Given the description of an element on the screen output the (x, y) to click on. 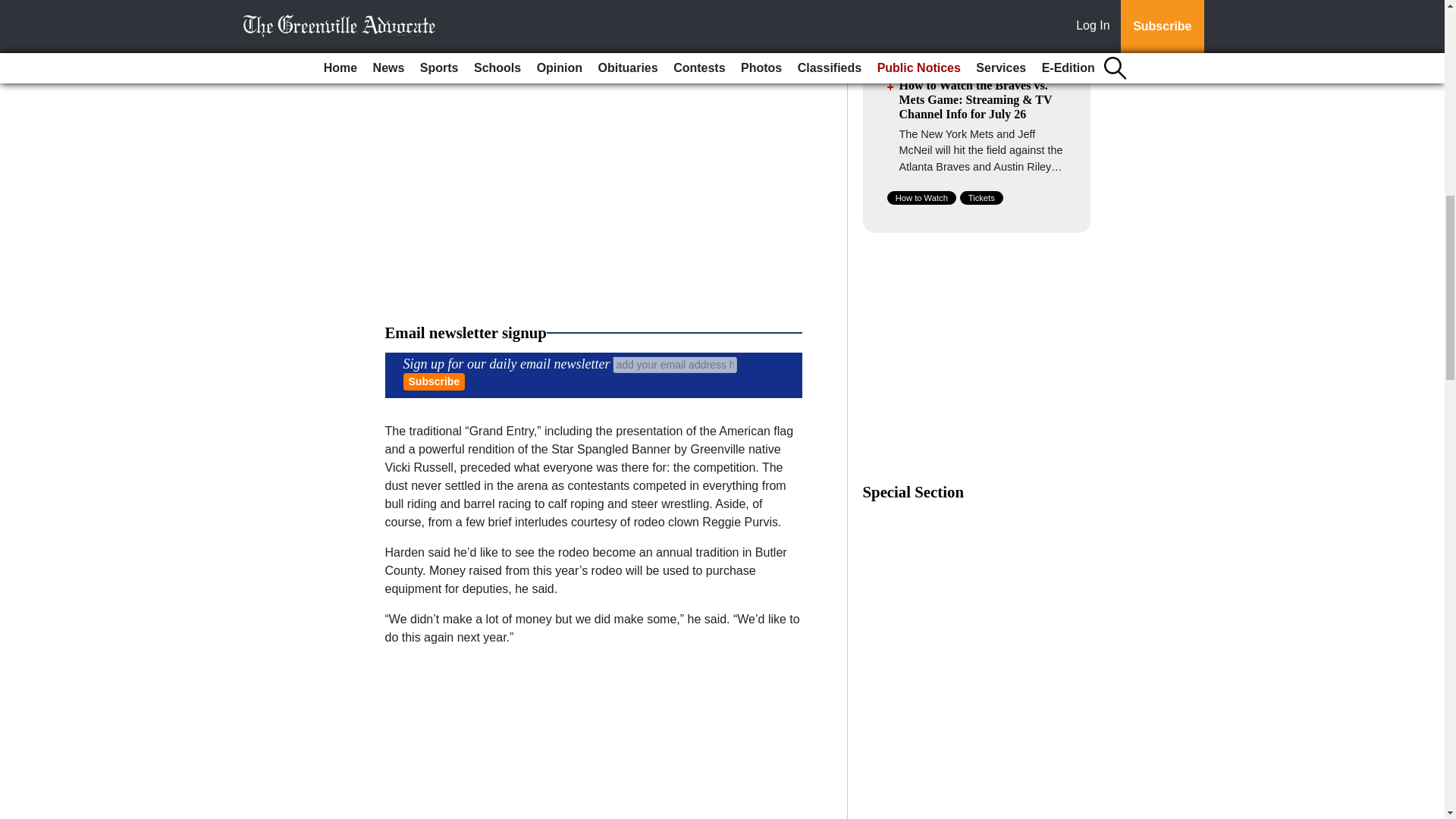
Subscribe (434, 381)
Subscribe (434, 381)
